Given the description of an element on the screen output the (x, y) to click on. 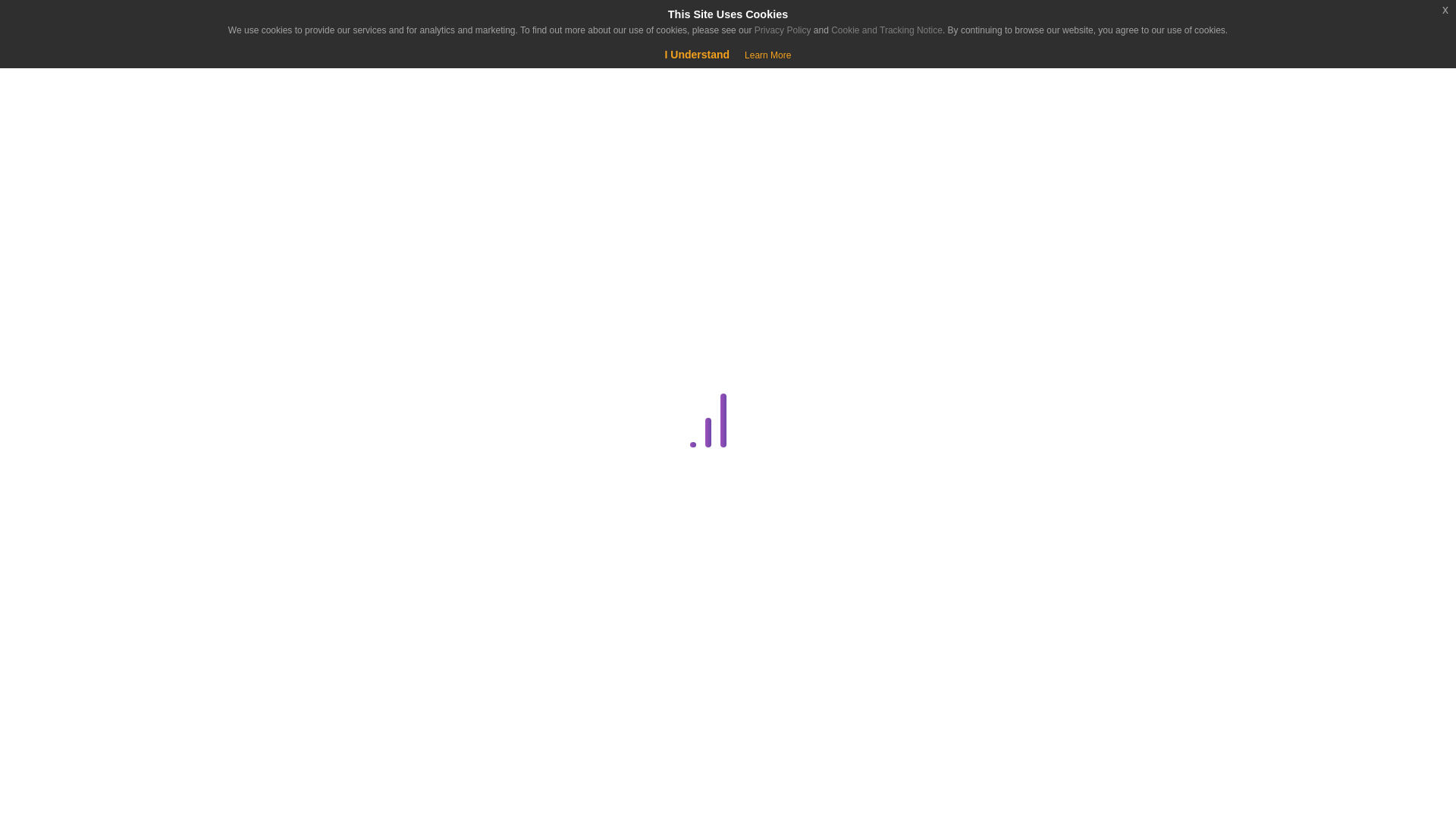
Hosting Dashboard (281, 713)
Shopping Cart (59, 76)
Billing (281, 349)
Video Tutorials (281, 816)
General (281, 677)
Software (281, 786)
Store (94, 176)
Linux Administration (281, 750)
Colocation Guides (283, 385)
Home (94, 138)
Domains API (283, 567)
cPanel (281, 422)
Dedicated Server Guides (281, 495)
Affiliates (283, 312)
Email (281, 604)
